Given the description of an element on the screen output the (x, y) to click on. 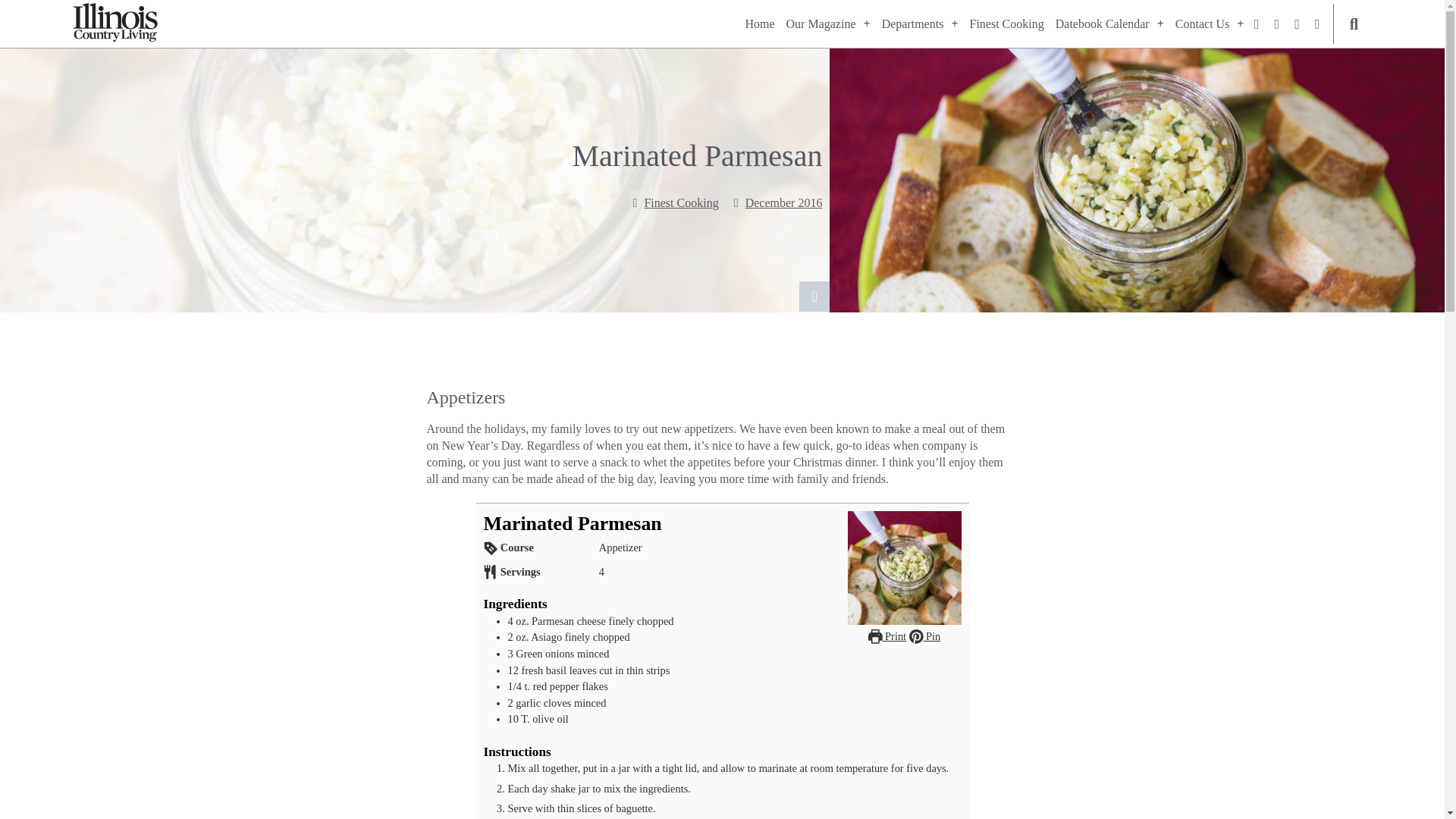
ICL-logo-blk (114, 22)
Datebook Calendar (1110, 24)
Contact Us (1209, 24)
Home (758, 24)
Our Magazine (828, 24)
Departments (919, 24)
Finest Cooking (1005, 24)
